Given the description of an element on the screen output the (x, y) to click on. 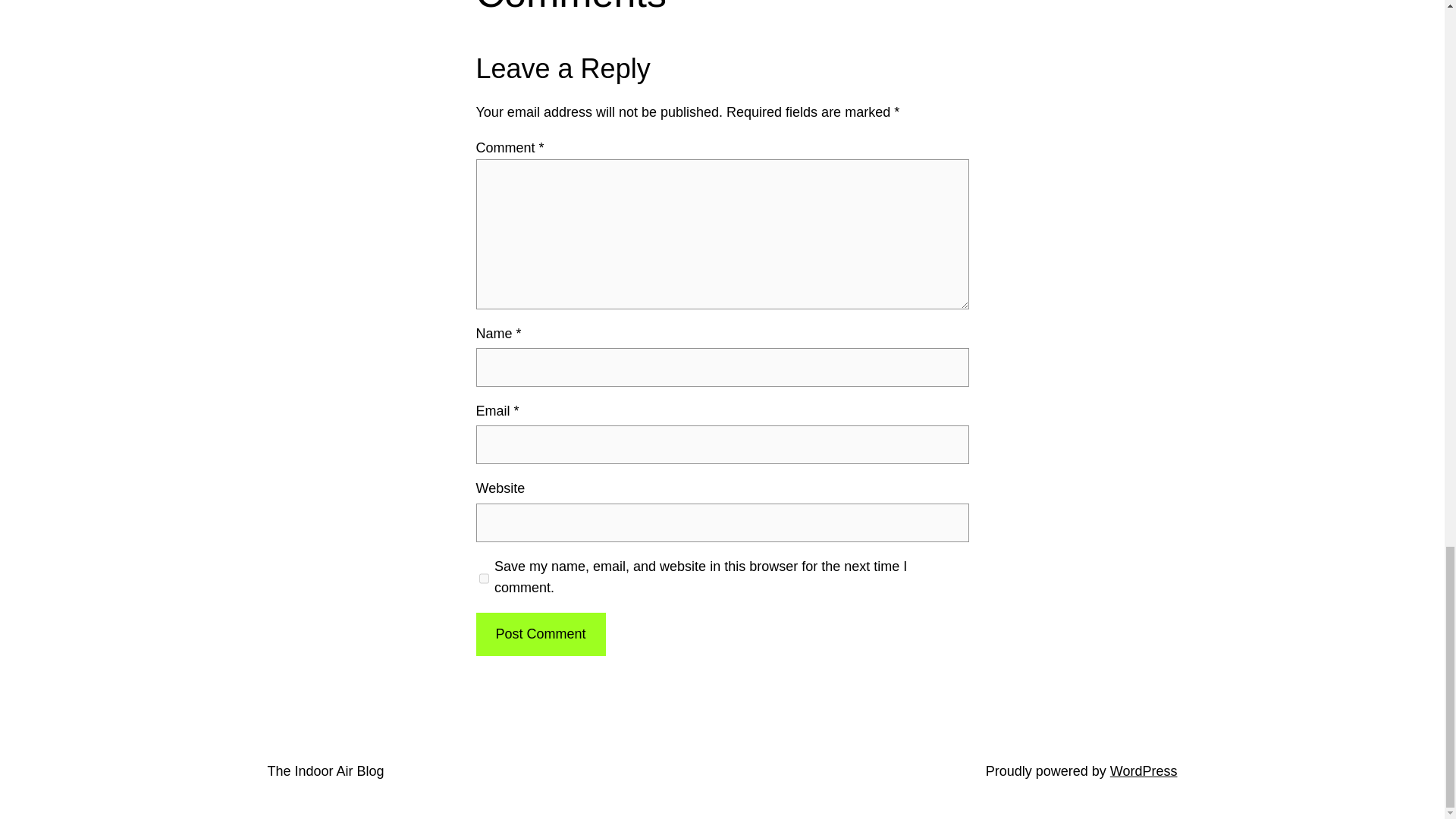
WordPress (1143, 770)
Post Comment (540, 634)
Post Comment (540, 634)
The Indoor Air Blog (325, 770)
